Given the description of an element on the screen output the (x, y) to click on. 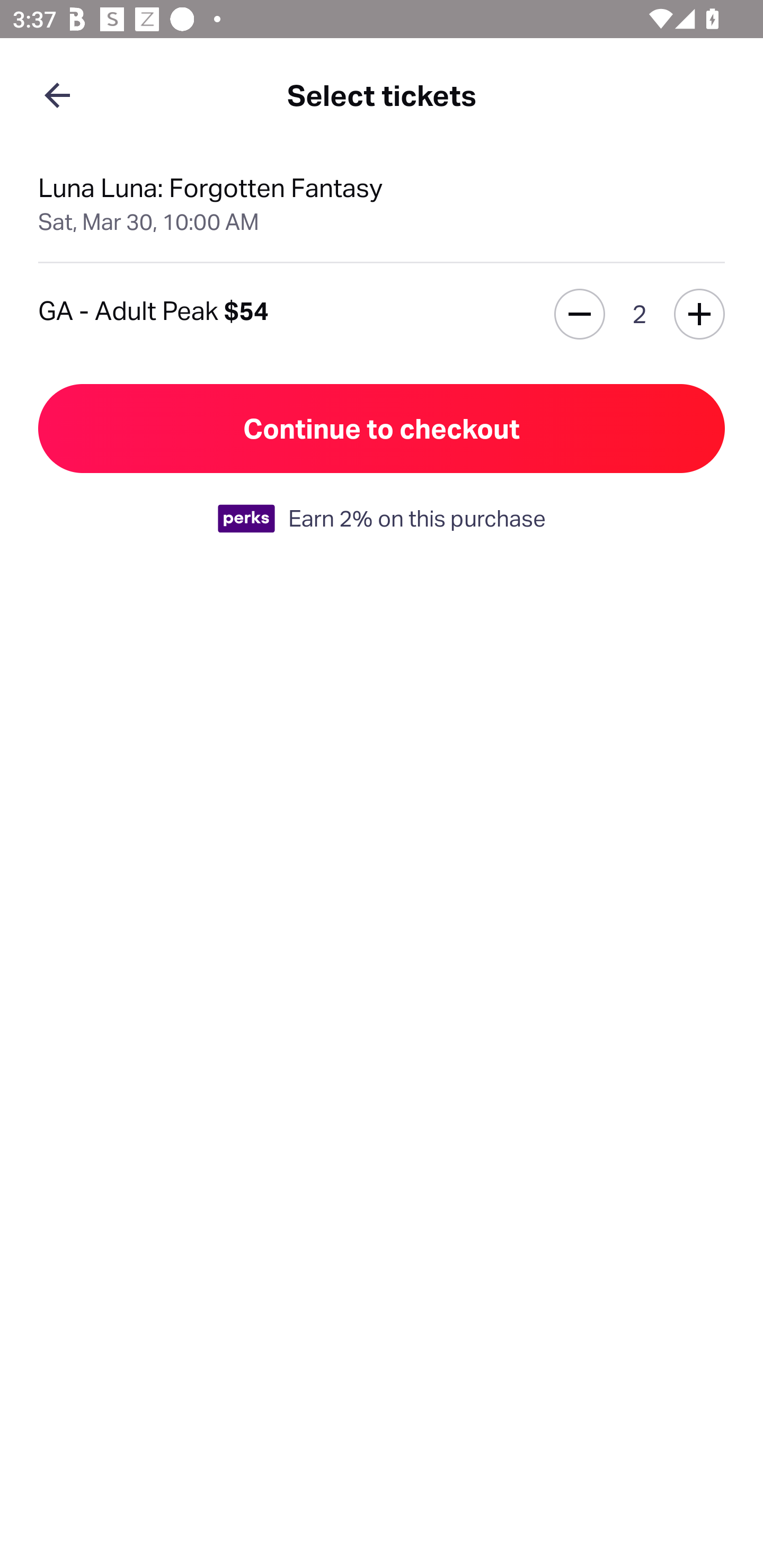
Back (57, 94)
minus button (579, 313)
plus button (699, 313)
Continue to checkout (381, 428)
